Given the description of an element on the screen output the (x, y) to click on. 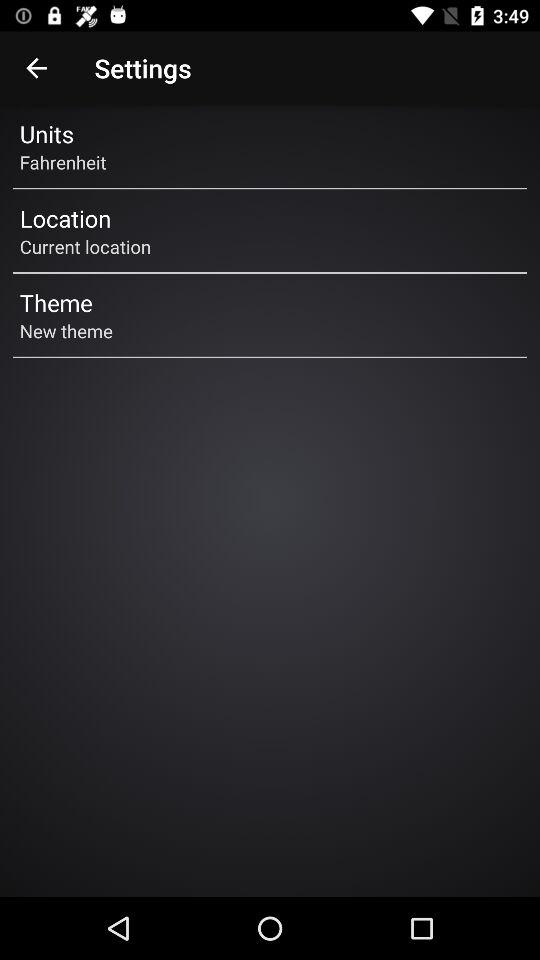
select the item above the units item (36, 68)
